Given the description of an element on the screen output the (x, y) to click on. 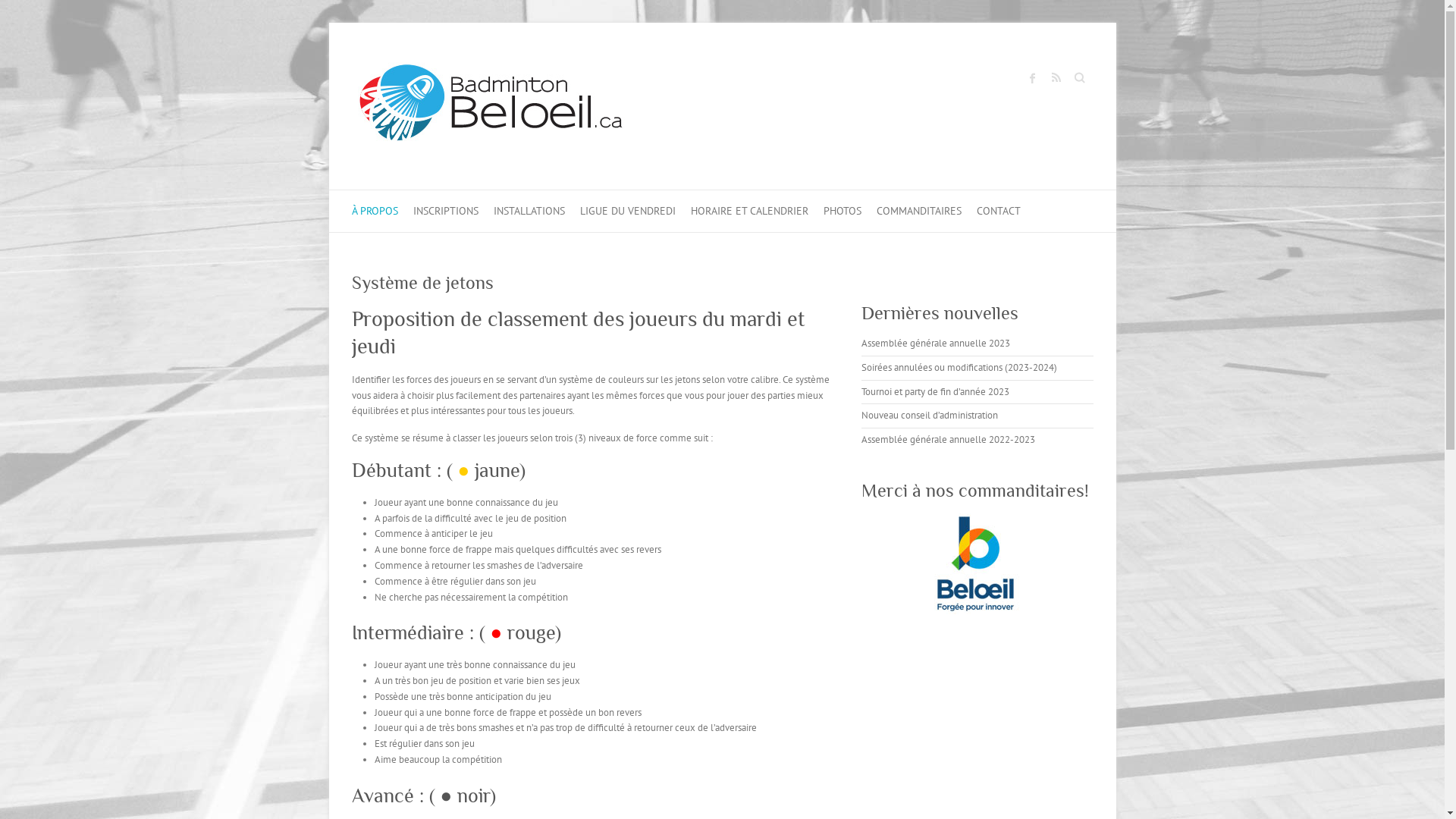
INSTALLATIONS Element type: text (528, 211)
CONTACT Element type: text (998, 211)
COMMANDITAIRES Element type: text (918, 211)
LIGUE DU VENDREDI Element type: text (626, 211)
INSCRIPTIONS Element type: text (444, 211)
Club de Badminton de Beloeil Element type: hover (490, 106)
PHOTOS Element type: text (842, 211)
Club de Badminton de Beloeil RSS Element type: text (1054, 77)
HORAIRE ET CALENDRIER Element type: text (748, 211)
Club de Badminton de Beloeil Facebook Element type: text (1031, 77)
